Given the description of an element on the screen output the (x, y) to click on. 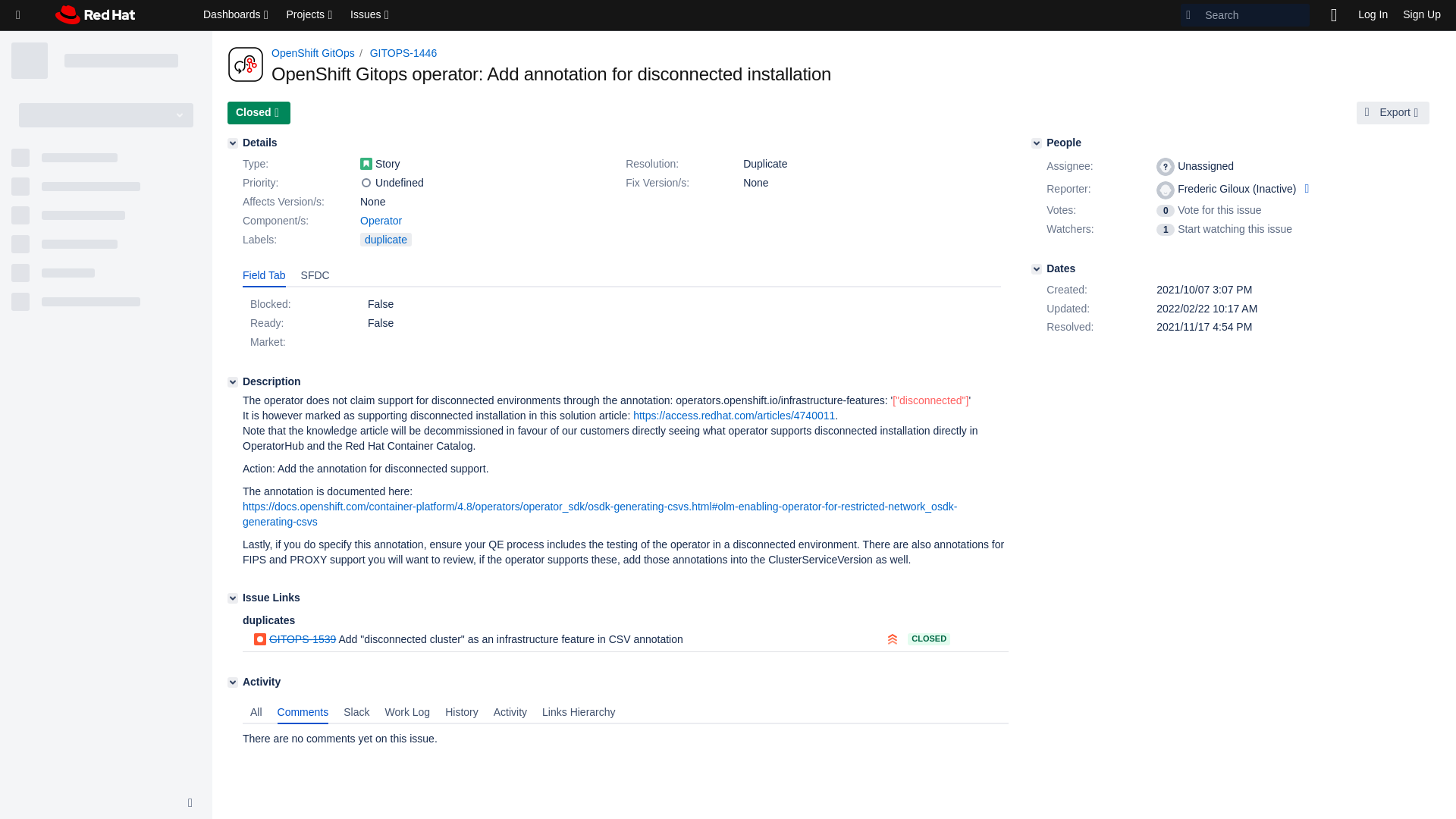
Issues (370, 15)
View recent projects and browse a list of projects (311, 15)
Operator (380, 220)
Comments (302, 712)
Sign Up (1421, 15)
GITOPS-1539 (302, 639)
View and manage your dashboards (237, 15)
Projects (311, 15)
Details (232, 143)
Field Tab (264, 275)
